Given the description of an element on the screen output the (x, y) to click on. 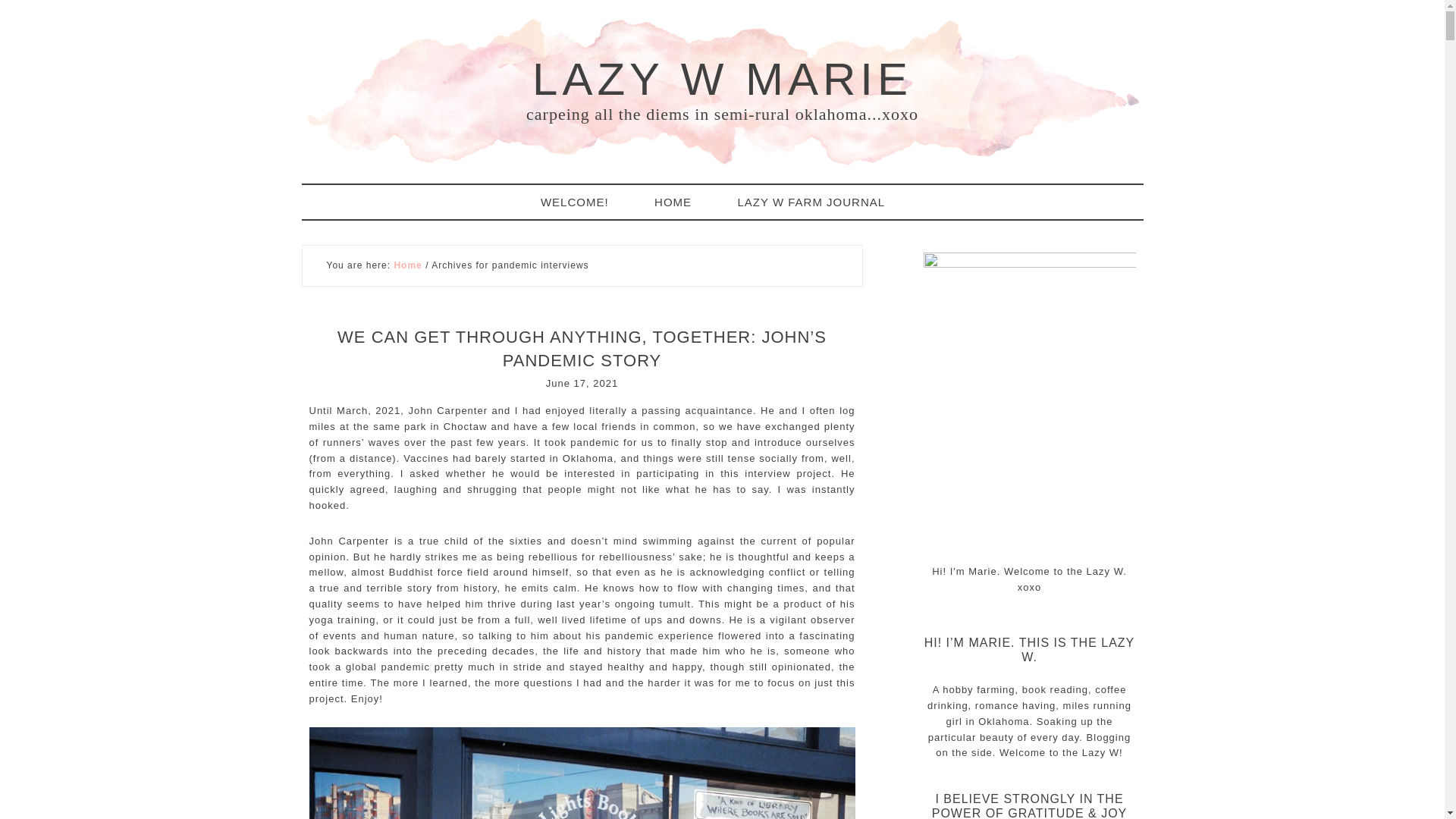
LAZY W MARIE (722, 79)
LAZY W FARM JOURNAL (820, 202)
Home (407, 265)
WELCOME! (584, 202)
HOME (682, 202)
